Given the description of an element on the screen output the (x, y) to click on. 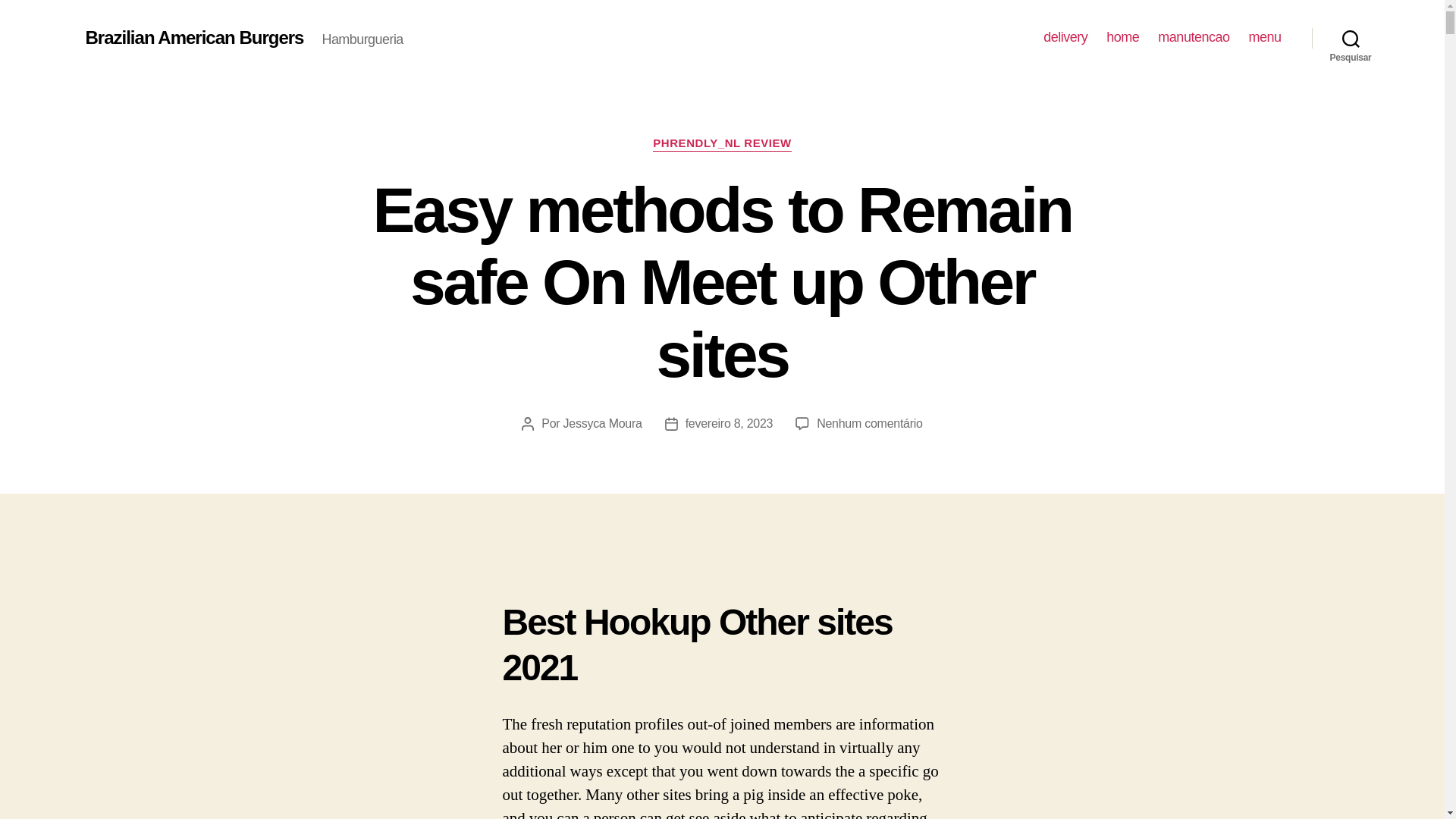
Pesquisar (1350, 37)
home (1122, 37)
Jessyca Moura (602, 422)
fevereiro 8, 2023 (729, 422)
menu (1264, 37)
delivery (1065, 37)
manutencao (1192, 37)
Brazilian American Burgers (193, 37)
